Given the description of an element on the screen output the (x, y) to click on. 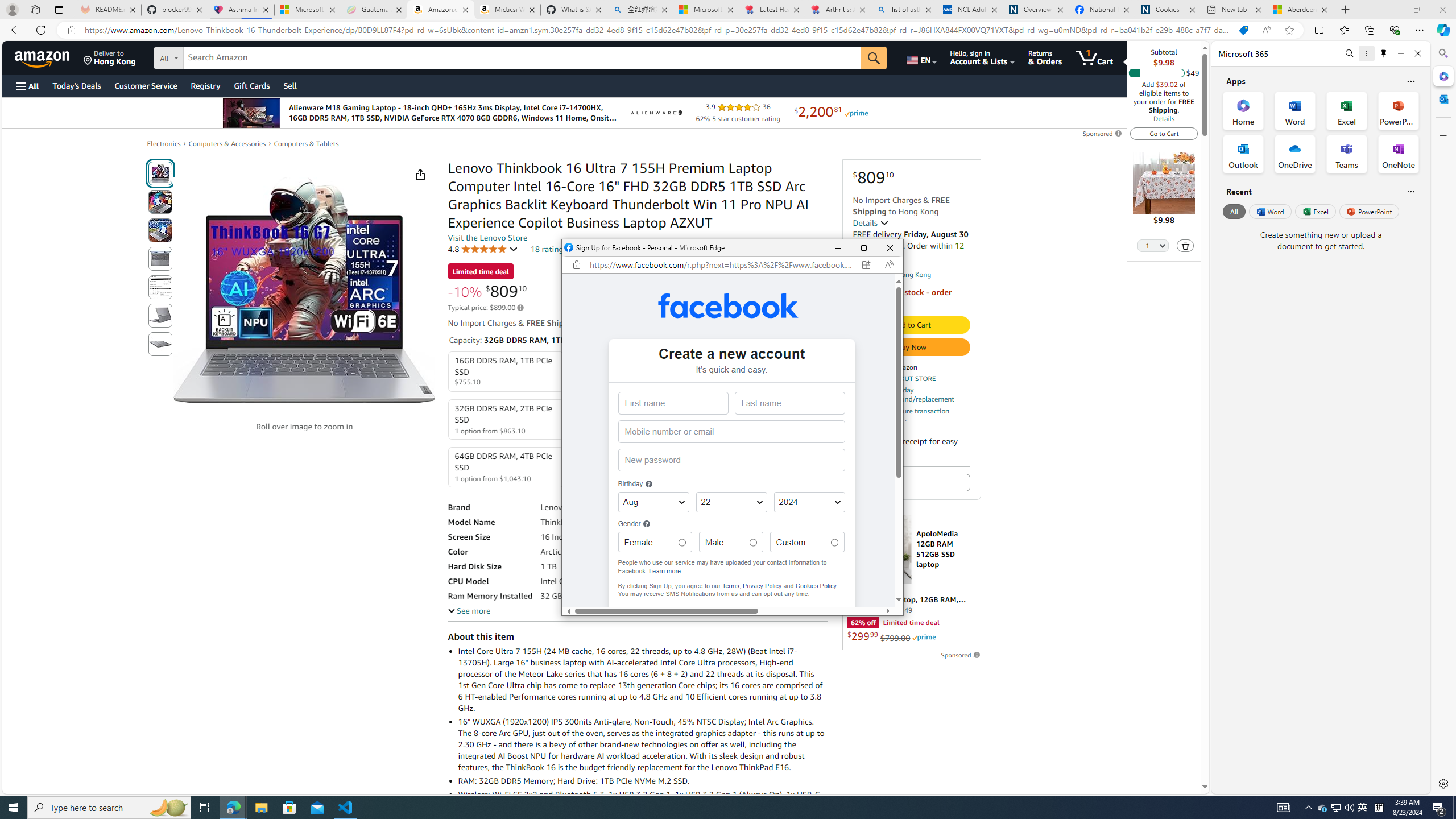
Computers & Accessories (226, 144)
Custom (834, 542)
Search Amazon (522, 57)
Privacy Policy (761, 584)
Details (1163, 118)
Computers & Tablets (306, 144)
Go (873, 57)
